Given the description of an element on the screen output the (x, y) to click on. 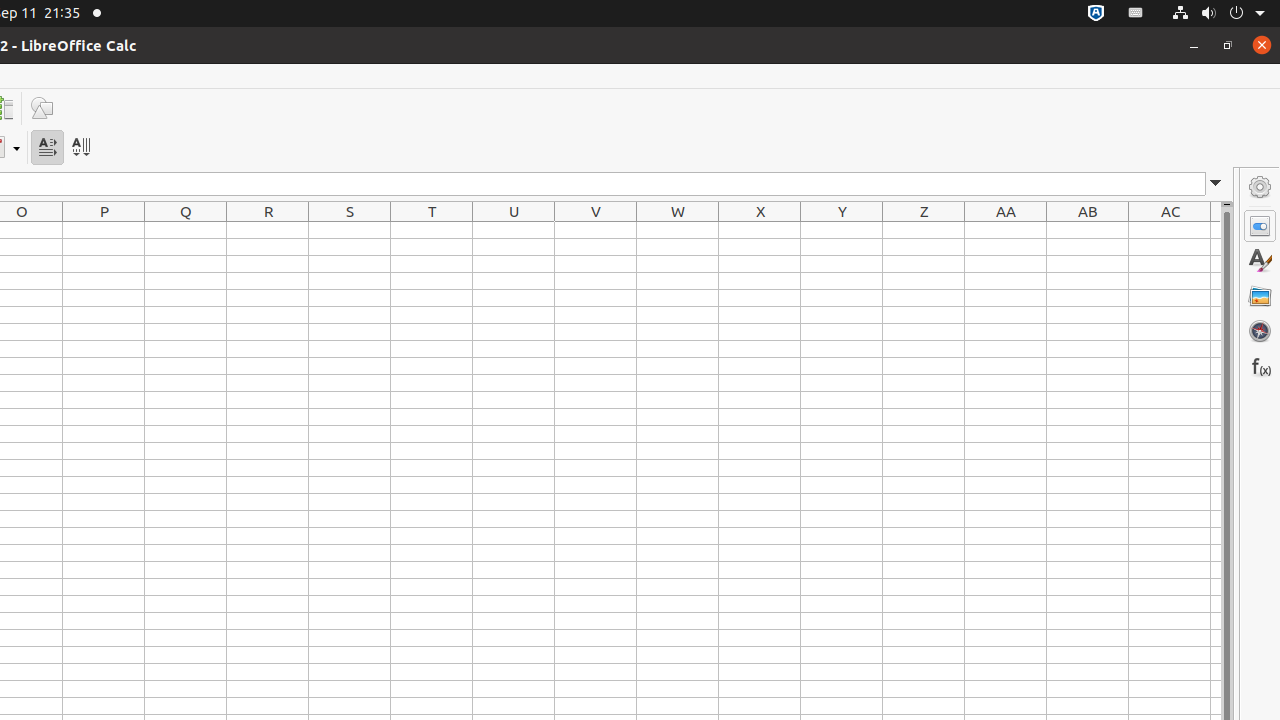
Properties Element type: radio-button (1260, 226)
U1 Element type: table-cell (514, 230)
Gallery Element type: radio-button (1260, 296)
P1 Element type: table-cell (104, 230)
